Given the description of an element on the screen output the (x, y) to click on. 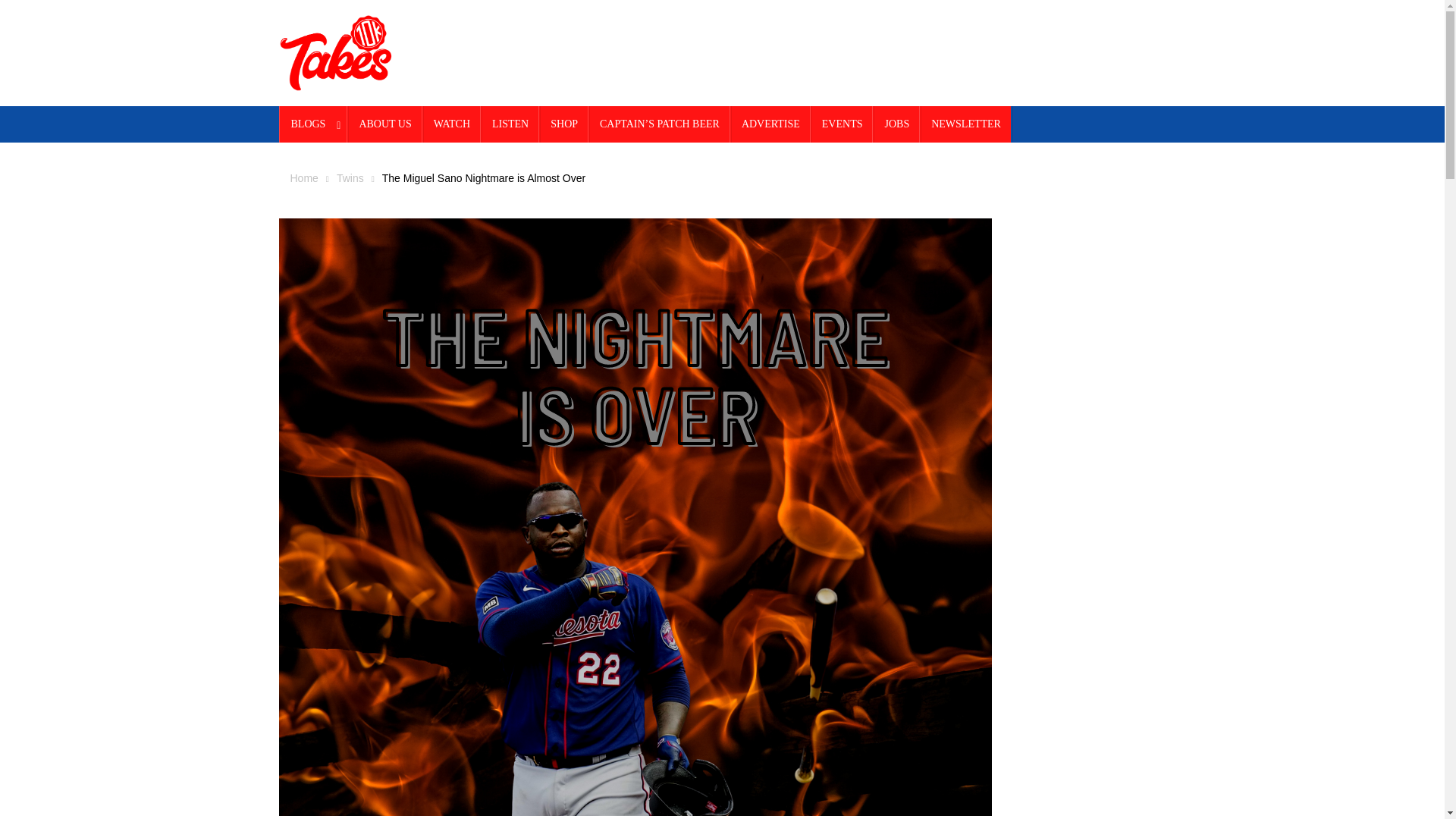
NEWSLETTER (965, 124)
Home (303, 177)
BLOGS (314, 124)
SHOP (563, 124)
WATCH (451, 124)
EVENTS (842, 124)
ADVERTISE (770, 124)
JOBS (896, 124)
Twins (350, 177)
LISTEN (510, 124)
ABOUT US (384, 124)
